Given the description of an element on the screen output the (x, y) to click on. 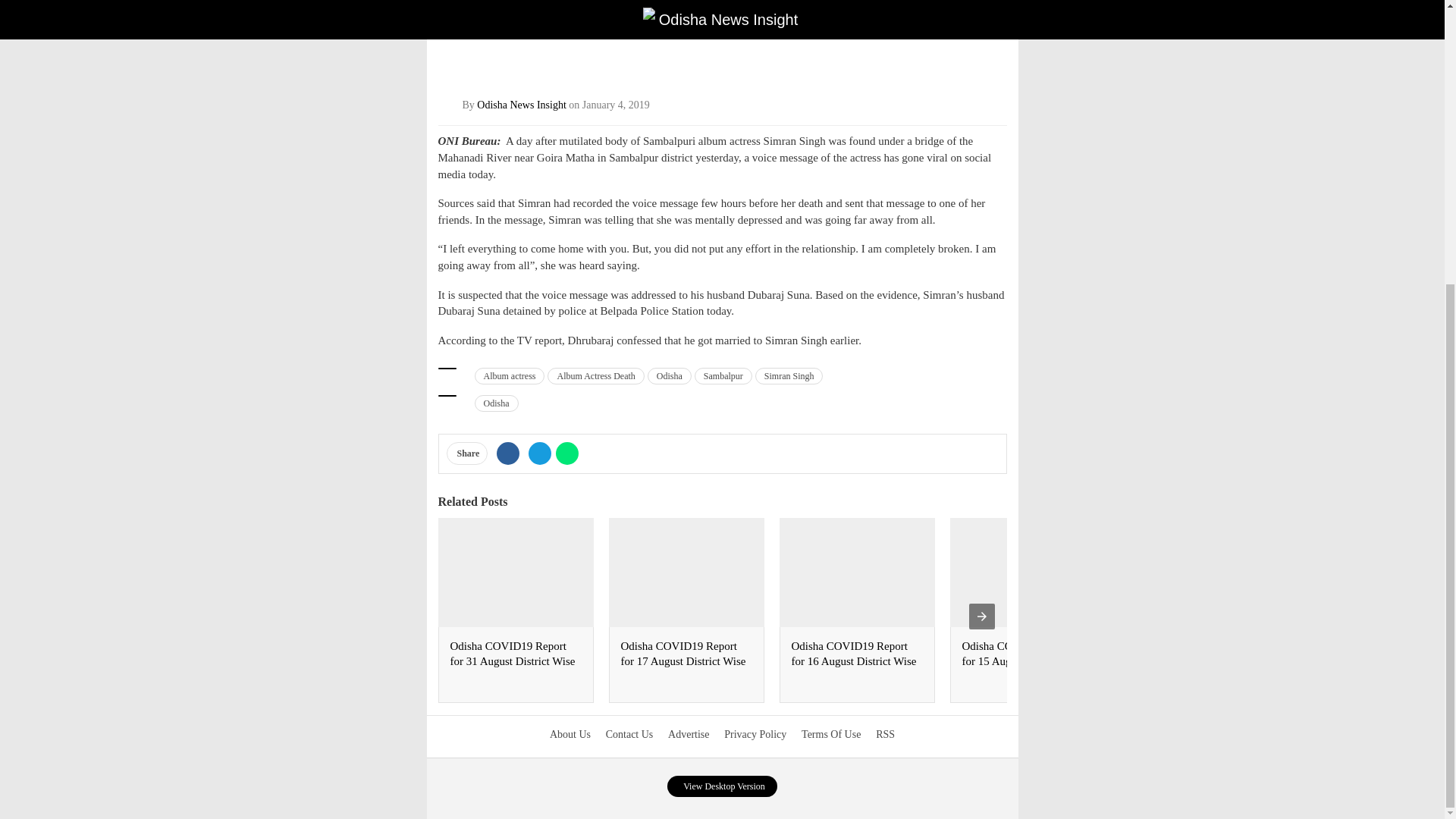
Odisha (669, 375)
Odisha COVID19 Report for 15 August District Wise (1023, 653)
Sambalpur (723, 375)
Odisha COVID19 Report for 14 August District Wise (1194, 653)
Odisha (496, 402)
RSS (885, 734)
Advertise (688, 734)
Album Actress Death (595, 375)
Odisha COVID19 Report for 31 August District Wise (512, 653)
Odisha COVID19 Report for 16 August District Wise (854, 653)
View Desktop Version (721, 785)
CM Naveen Patnaik Announces Smart Health Card; Know Details (1359, 660)
Terms Of Use (831, 734)
Contact Us (629, 734)
